Given the description of an element on the screen output the (x, y) to click on. 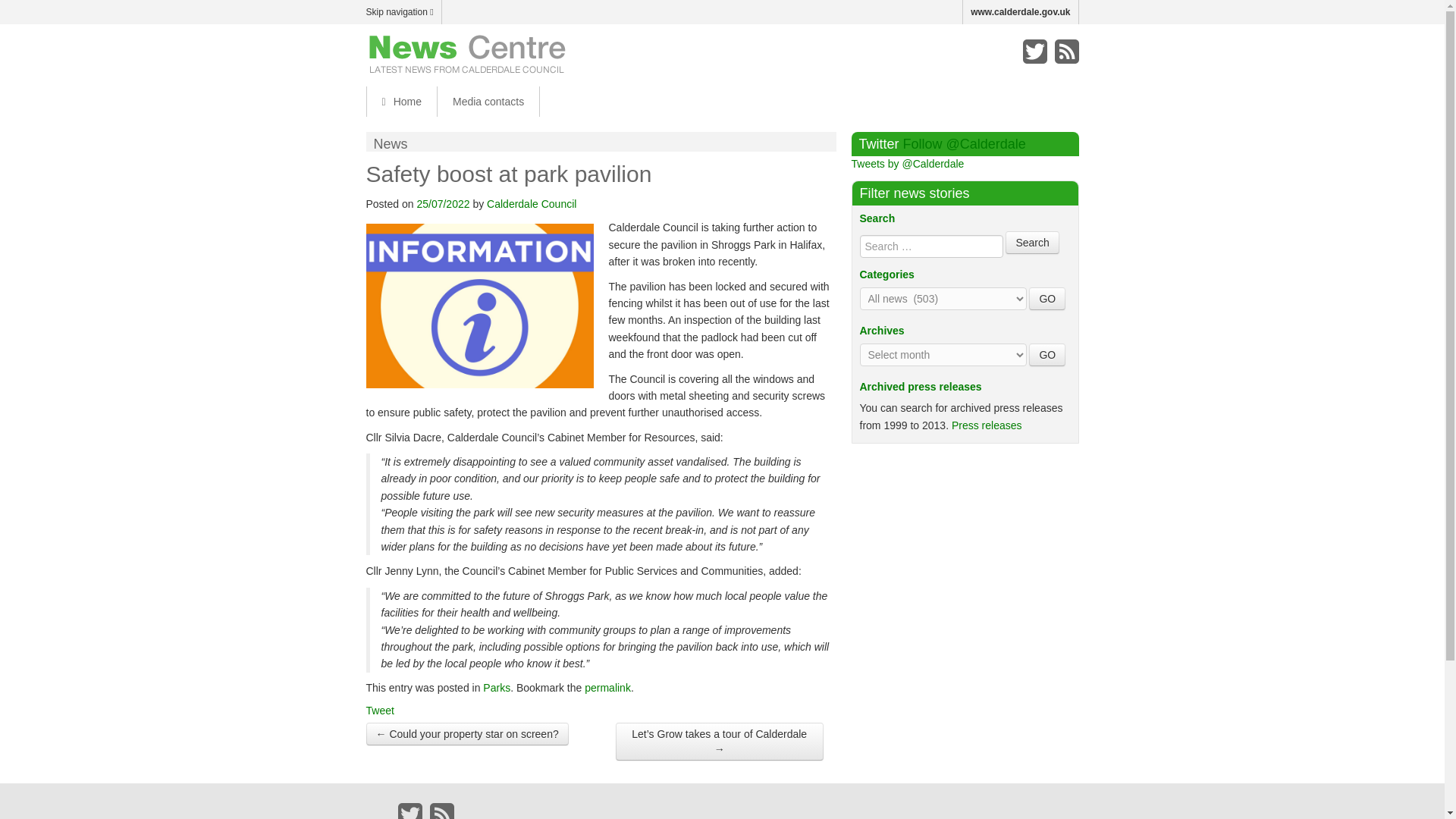
Press releases (987, 425)
View all posts by Calderdale Council (531, 203)
www.calderdale.gov.uk (1020, 12)
GO (1047, 298)
Parks (497, 687)
Calderdale Council (531, 203)
4:42 pm (442, 203)
RSS (440, 811)
Twitter (409, 811)
Facebook (1002, 51)
